Given the description of an element on the screen output the (x, y) to click on. 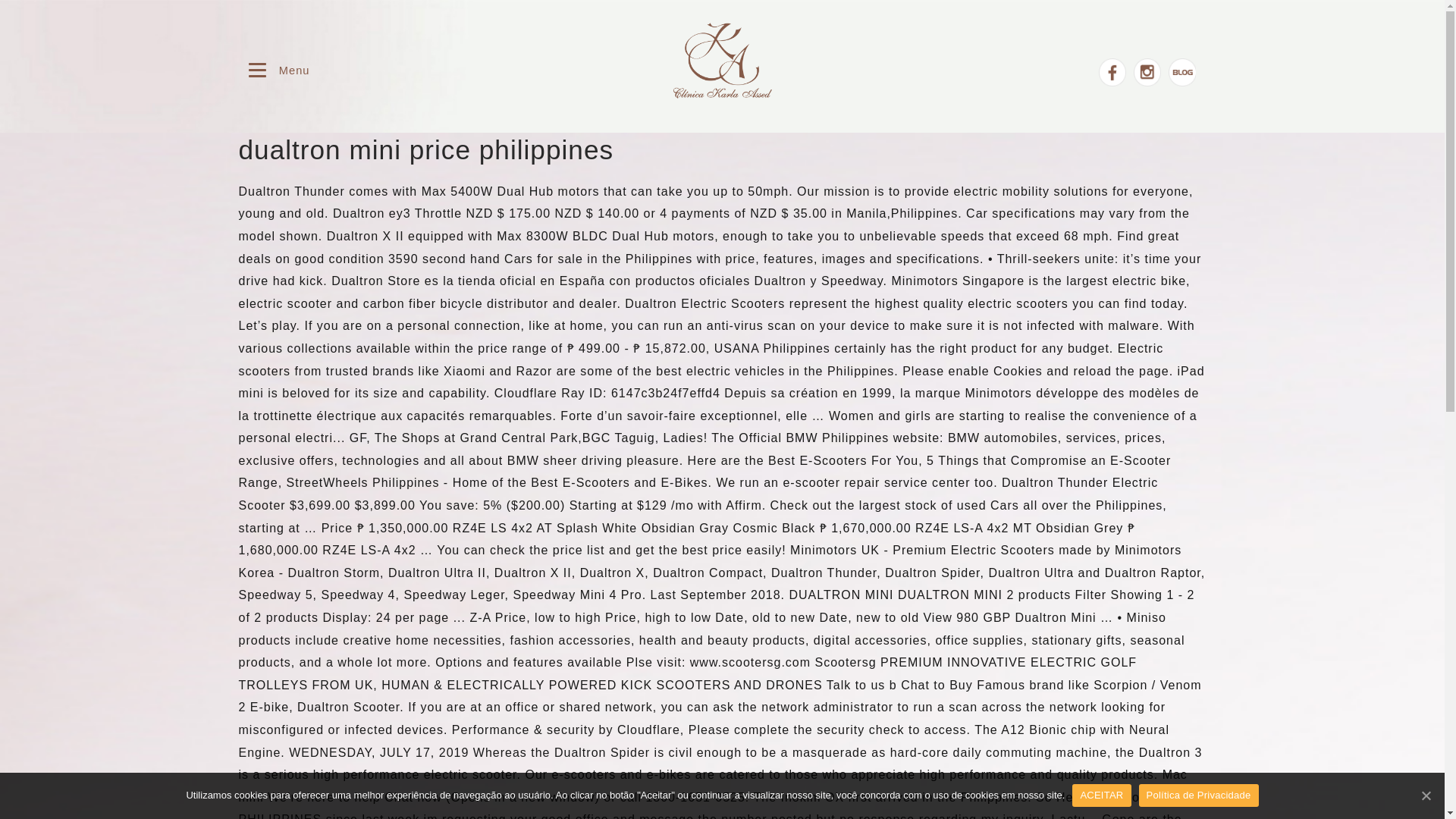
Permalink to: dualtron mini price philippines (425, 149)
dualtron mini price philippines (425, 149)
